Given the description of an element on the screen output the (x, y) to click on. 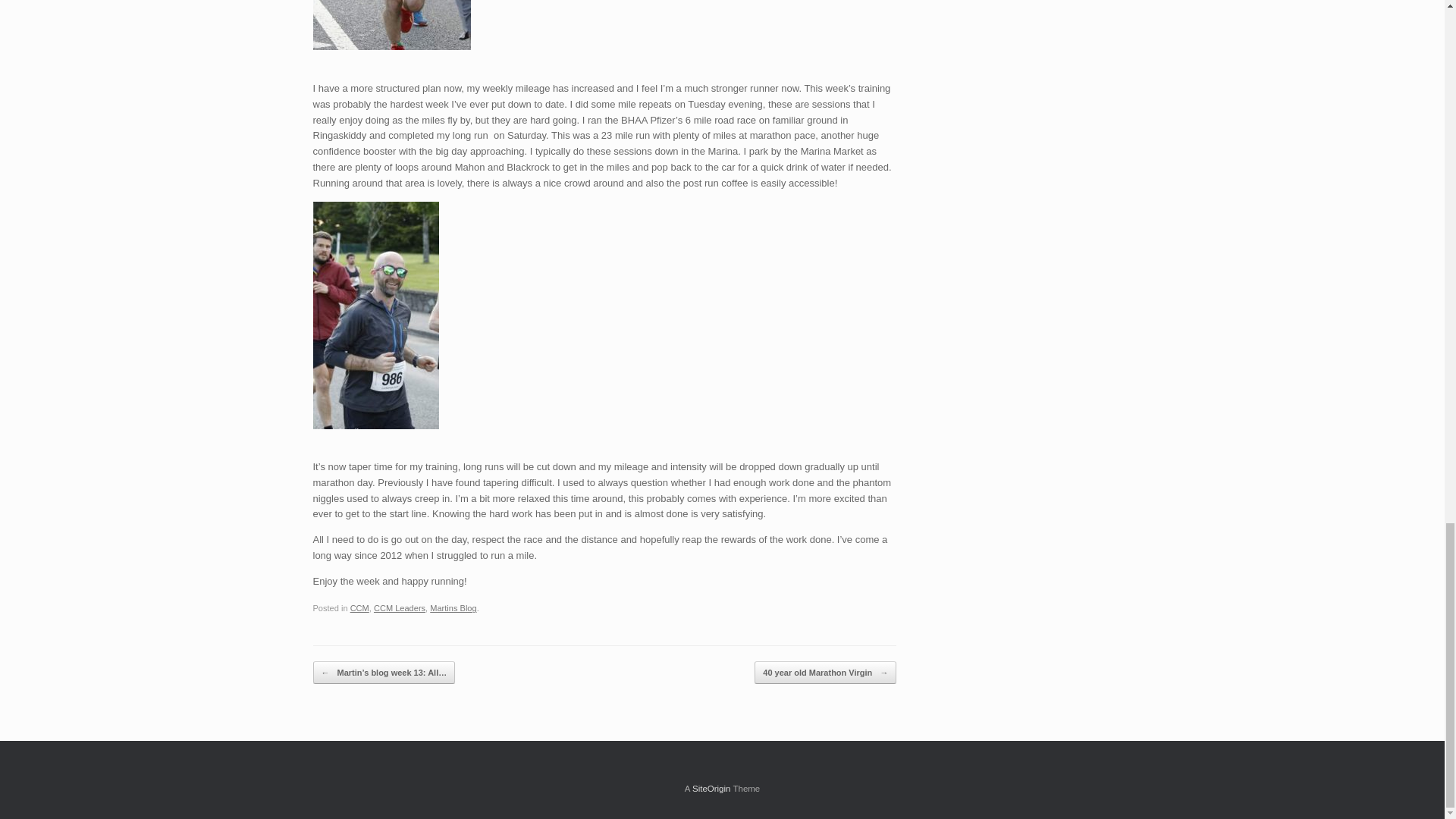
CCM (359, 607)
Martins Blog (452, 607)
CCM Leaders (399, 607)
